Given the description of an element on the screen output the (x, y) to click on. 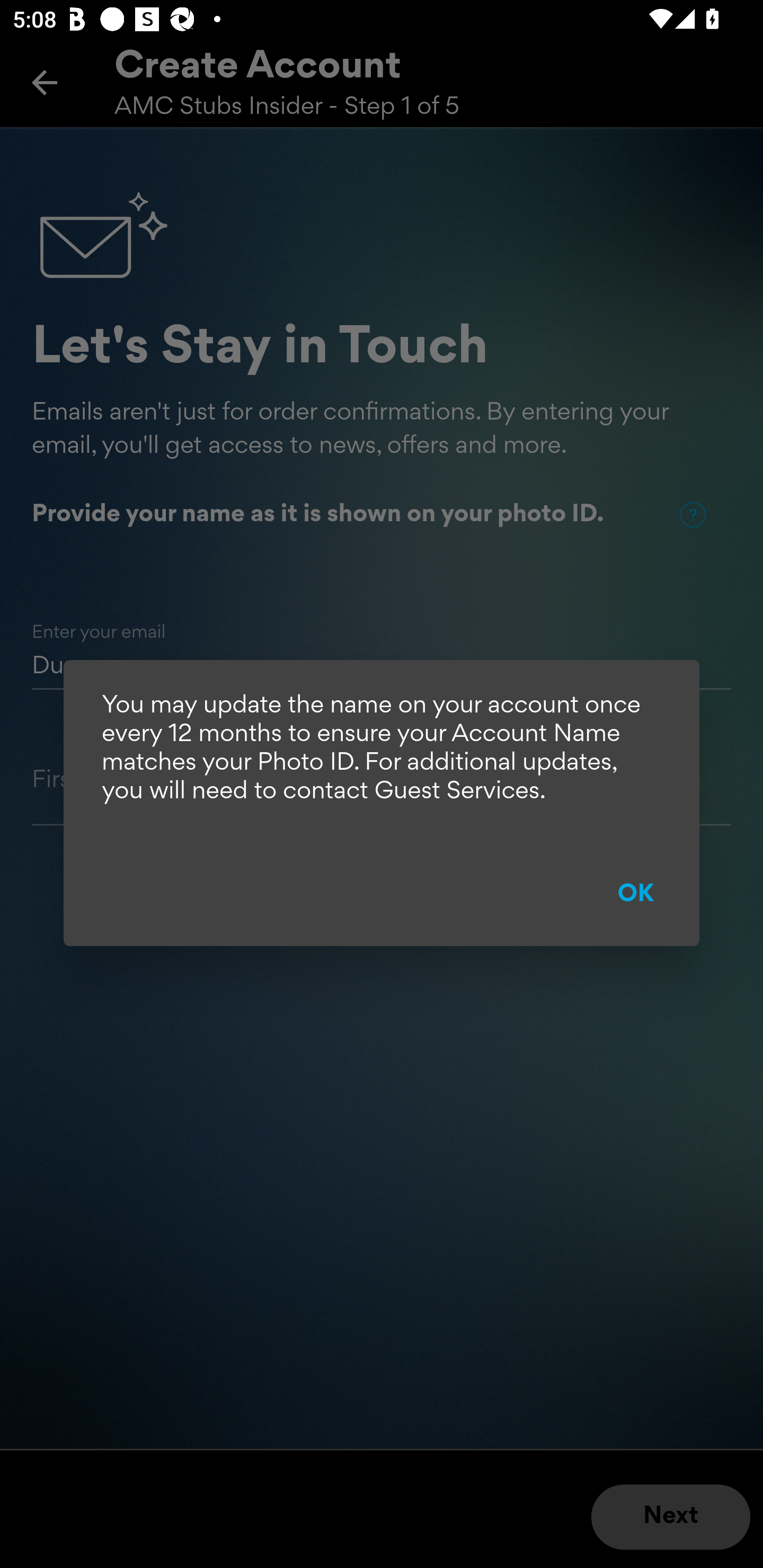
OK (635, 894)
